Given the description of an element on the screen output the (x, y) to click on. 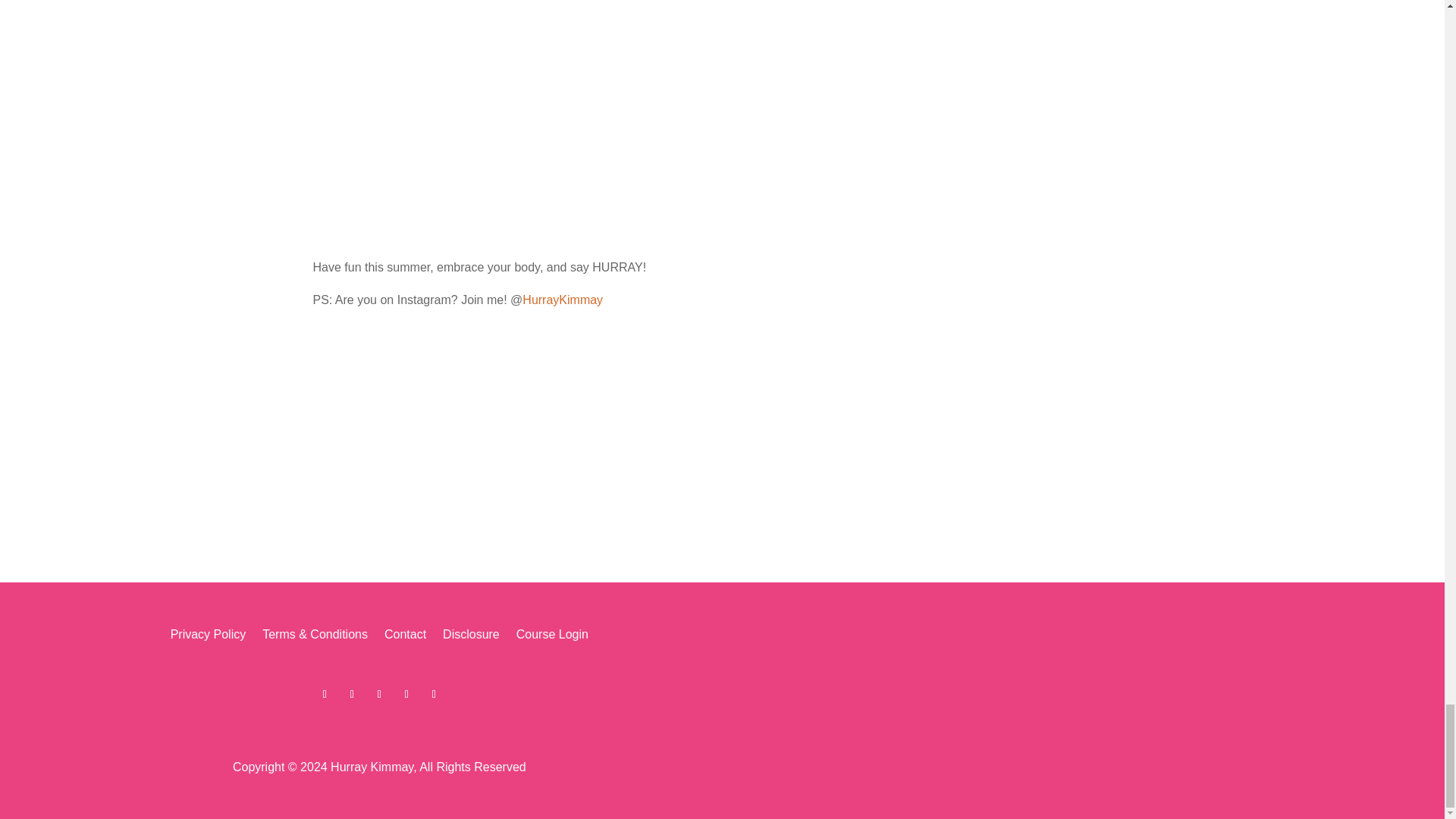
Follow on Pinterest (433, 694)
Follow on Instagram (324, 694)
Follow on X (406, 694)
Follow on Facebook (379, 694)
Follow on TikTok (351, 694)
